Given the description of an element on the screen output the (x, y) to click on. 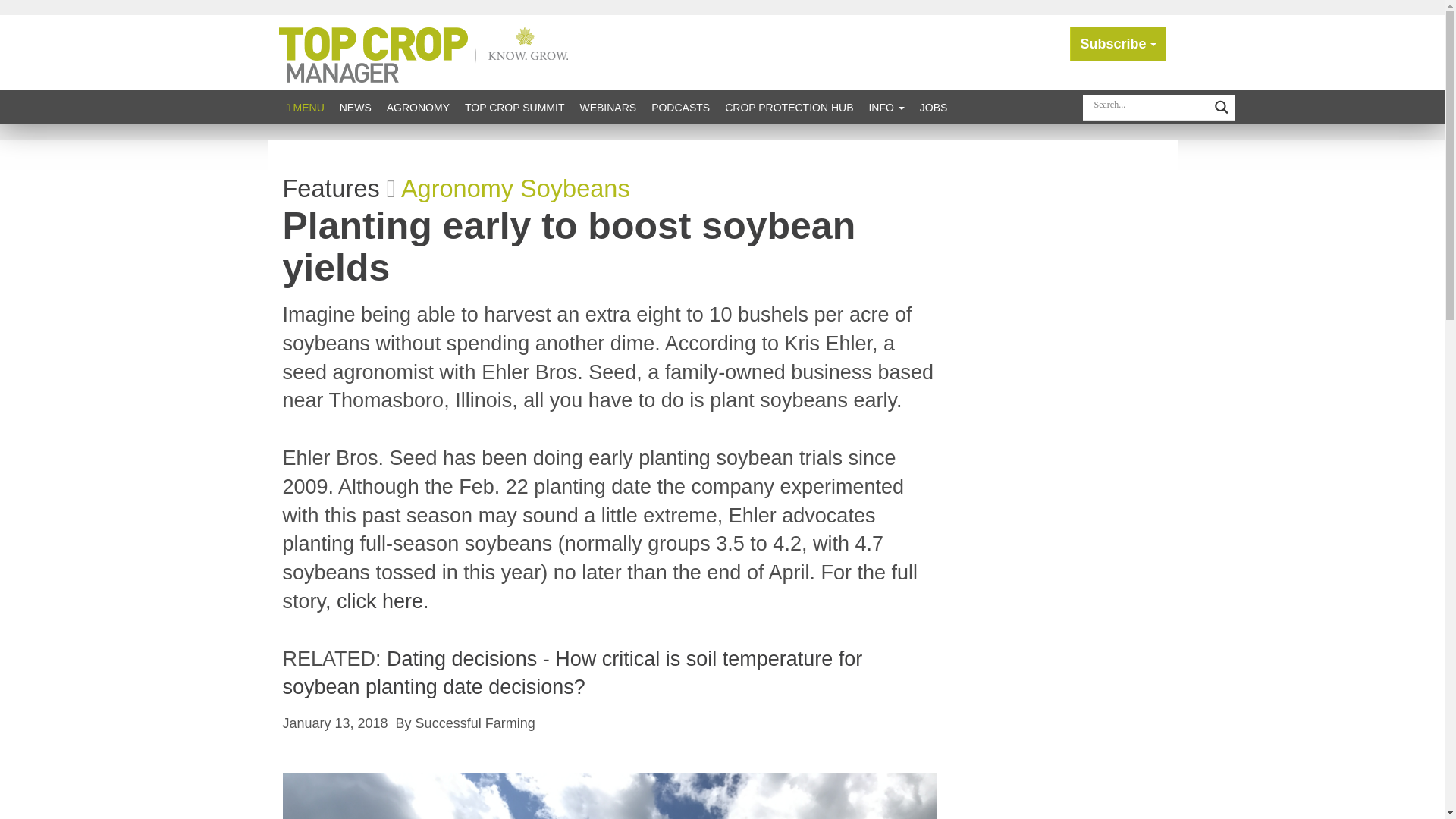
MENU (305, 107)
WEBINARS (607, 107)
INFO (885, 107)
Click to show site navigation (305, 107)
CROP PROTECTION HUB (788, 107)
TOP CROP SUMMIT (514, 107)
AGRONOMY (417, 107)
PODCASTS (680, 107)
Subscribe (1118, 43)
Top Crop Manager (427, 51)
